Given the description of an element on the screen output the (x, y) to click on. 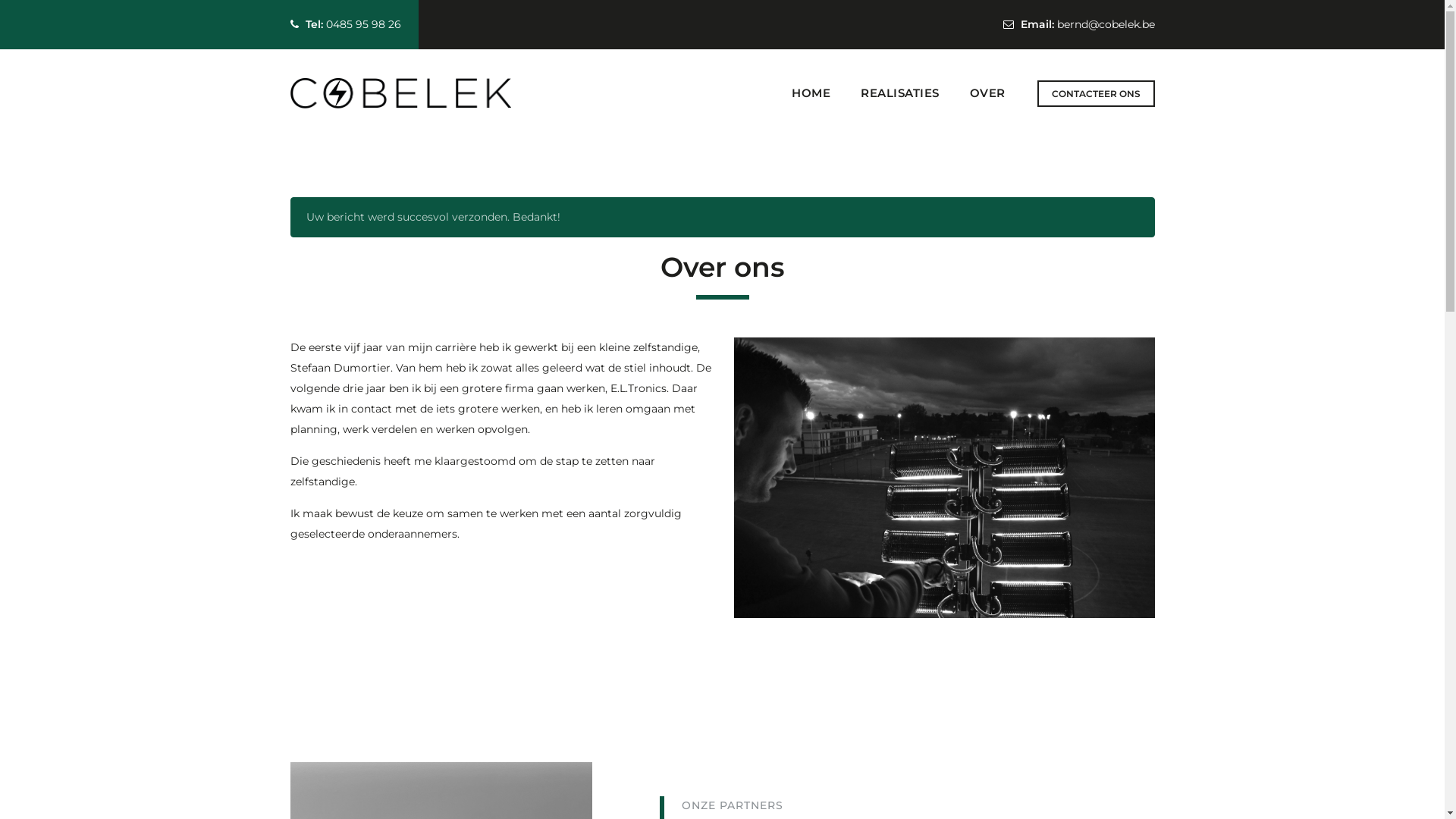
CONTACTEER ONS Element type: text (1095, 93)
COBELEK Element type: hover (400, 92)
0485 95 98 26 Element type: text (363, 24)
bernd@cobelek.be Element type: text (1105, 24)
REALISATIES Element type: text (900, 92)
HOME Element type: text (811, 92)
OVER Element type: text (986, 92)
